Given the description of an element on the screen output the (x, y) to click on. 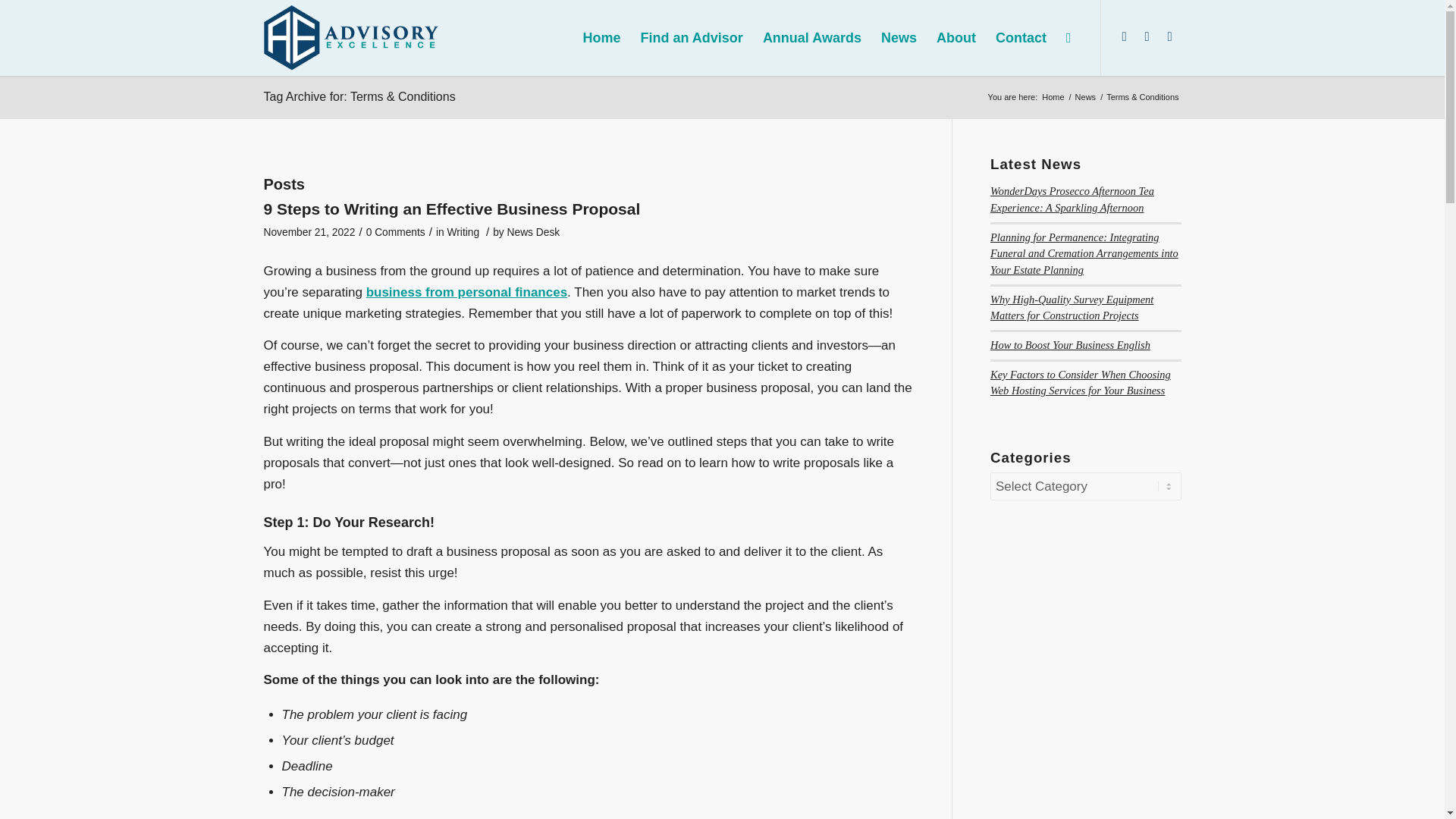
News (1086, 97)
Advisory Excellence (1052, 97)
How to Boost Your Business English (1070, 345)
News Desk (533, 232)
Facebook (1169, 36)
Twitter (1146, 36)
9 Steps to Writing an Effective Business Proposal (451, 208)
Writing (463, 232)
Find an Advisor (691, 38)
0 Comments (395, 232)
LinkedIn (1124, 36)
business from personal finances (466, 292)
Contact (1021, 38)
